Given the description of an element on the screen output the (x, y) to click on. 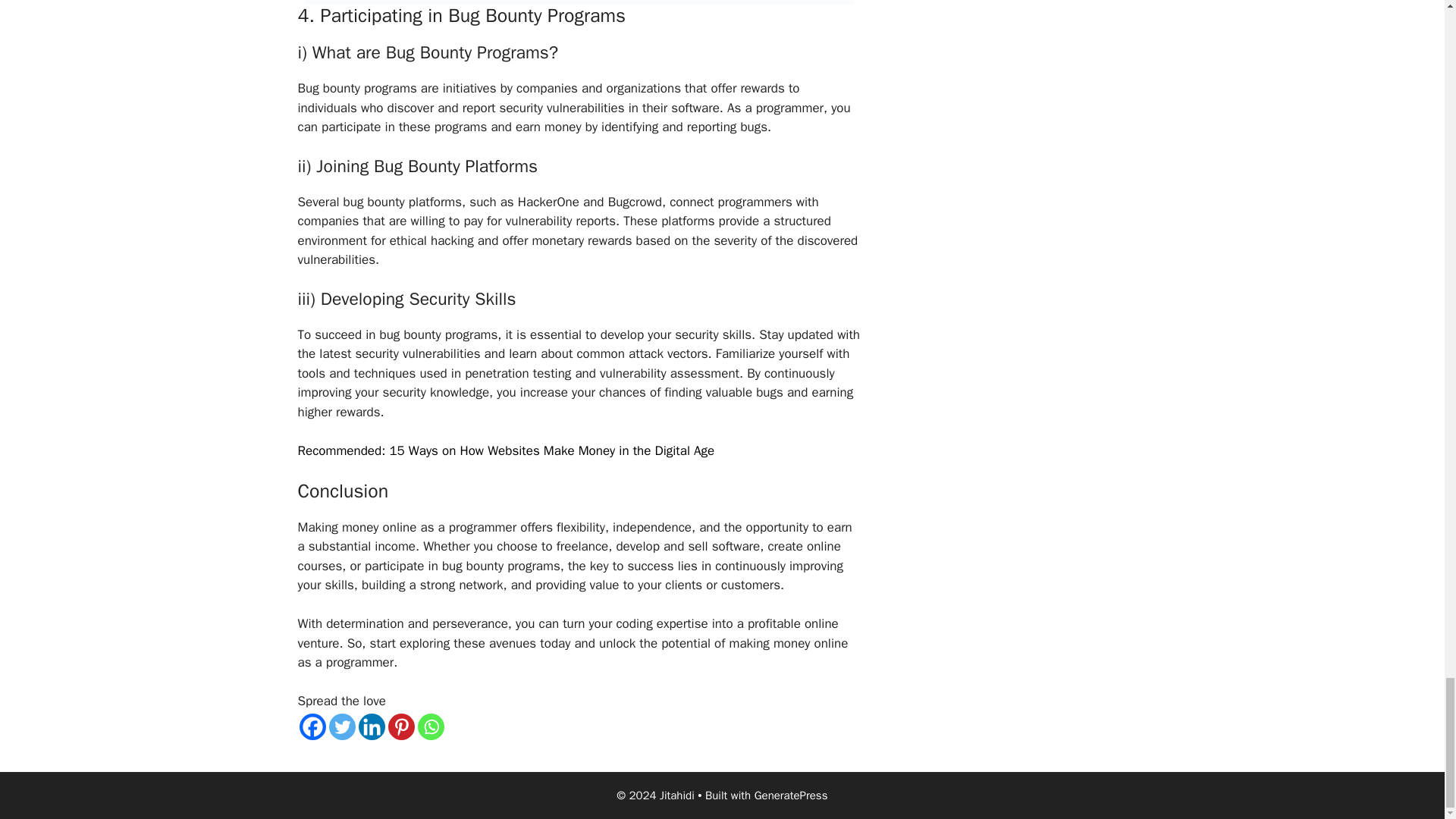
15 Ways on How Websites Make Money in the Digital Age (551, 450)
Whatsapp (430, 726)
Pinterest (401, 726)
Twitter (342, 726)
Facebook (311, 726)
Linkedin (371, 726)
